Given the description of an element on the screen output the (x, y) to click on. 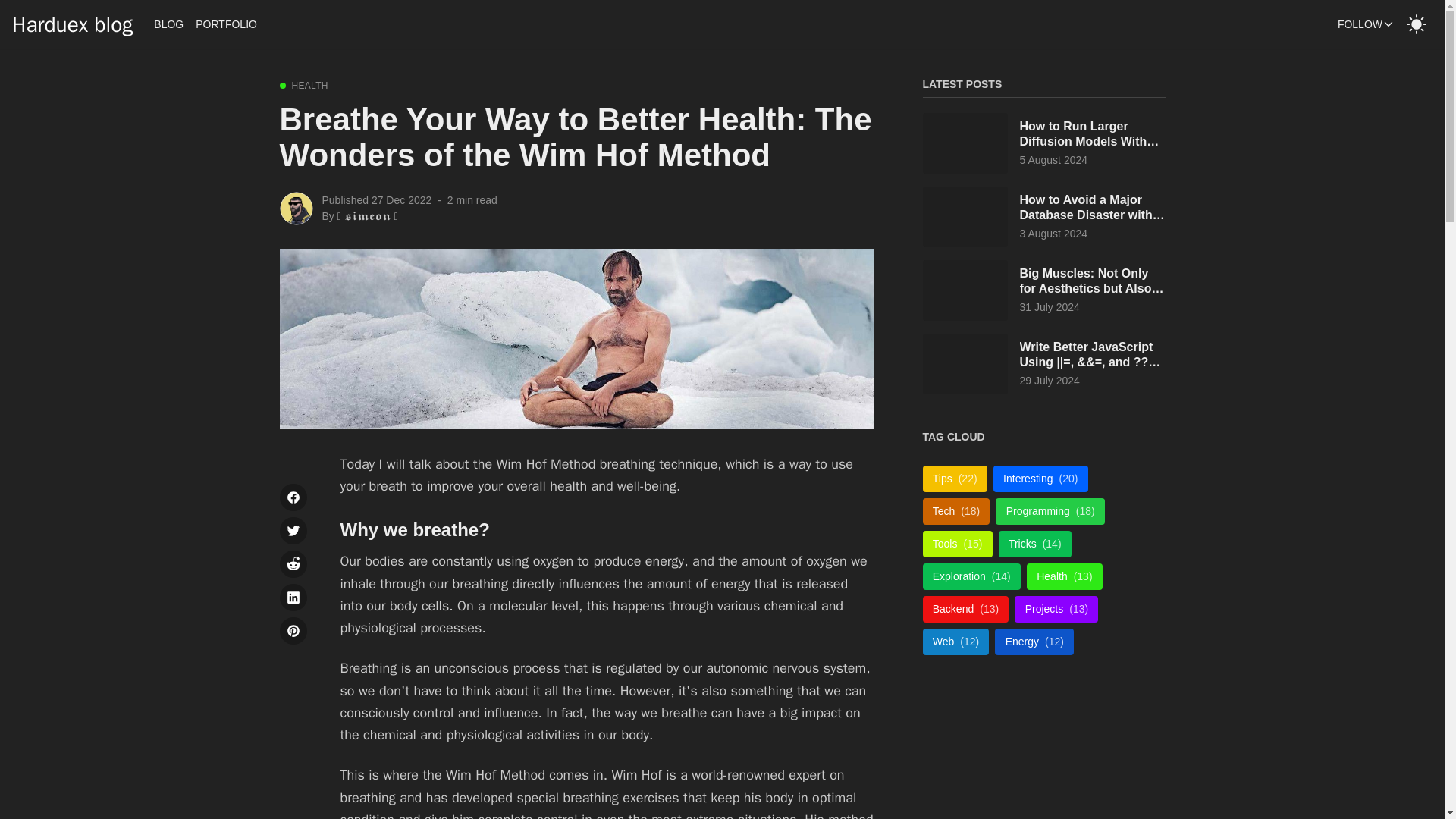
Harduex blog (71, 23)
BLOG (168, 24)
HEALTH (309, 85)
2 min read (471, 200)
PORTFOLIO (226, 24)
